Given the description of an element on the screen output the (x, y) to click on. 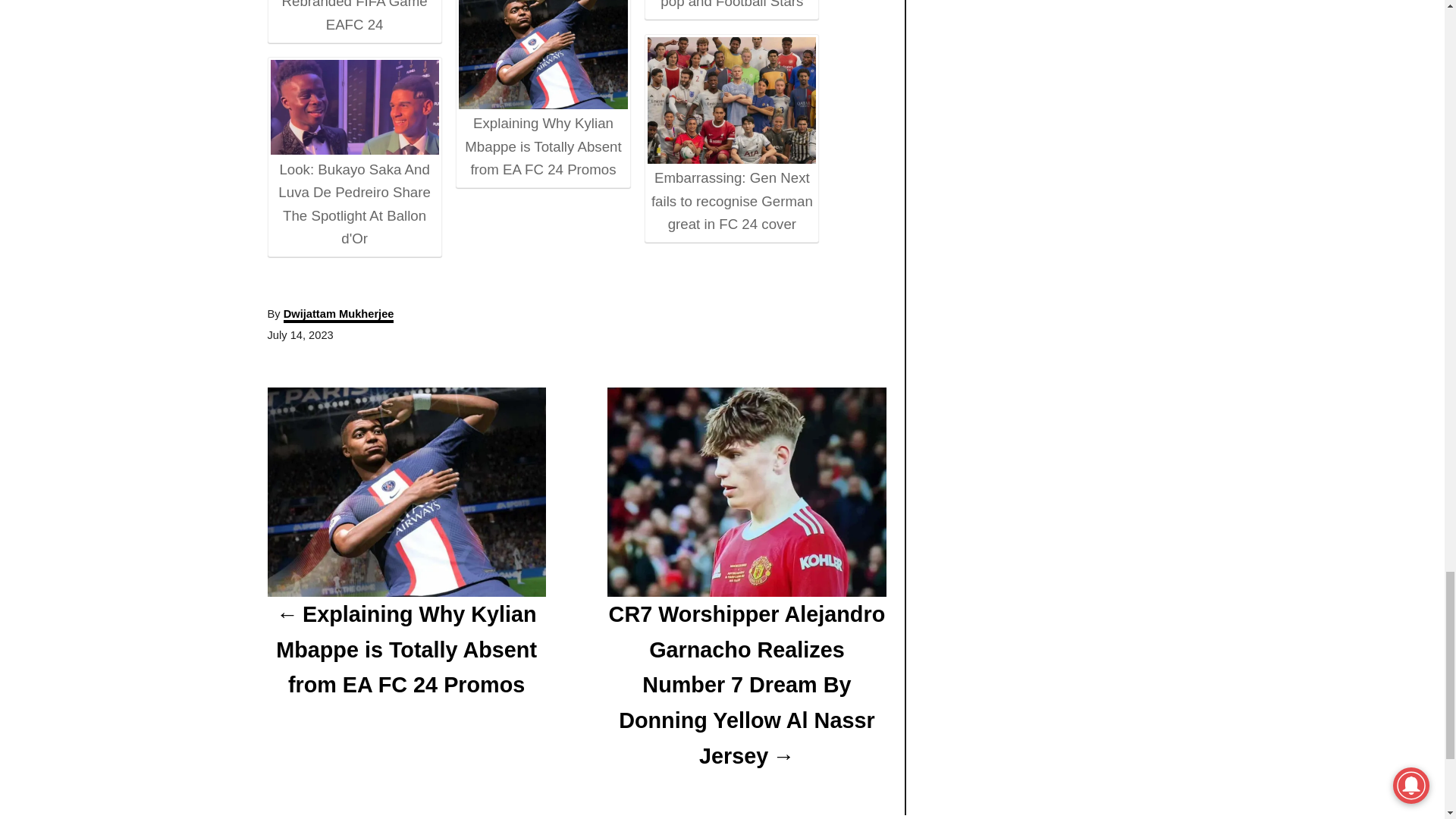
Dwijattam Mukherjee (338, 314)
